Given the description of an element on the screen output the (x, y) to click on. 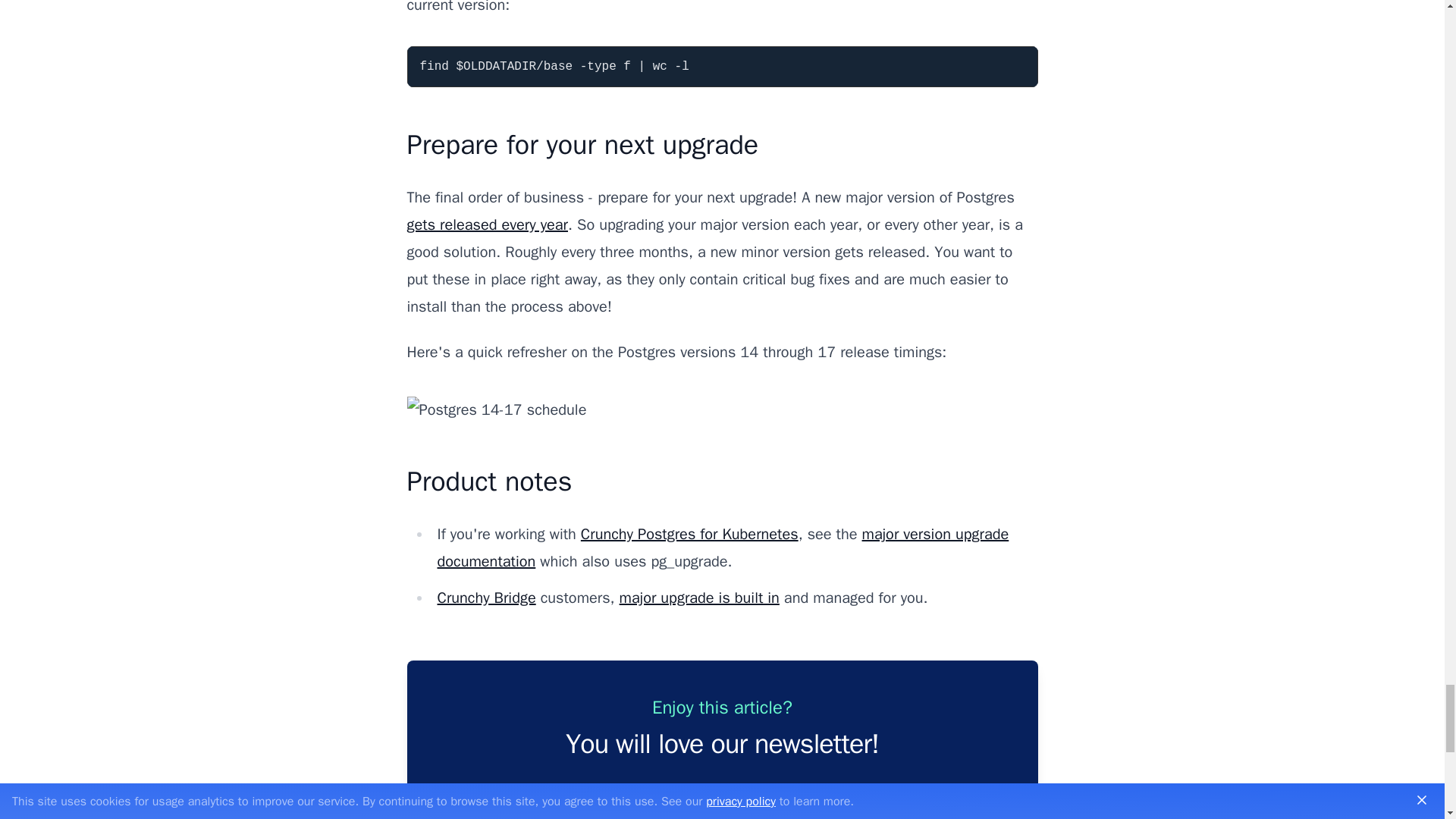
Prepare for your next upgrade (582, 144)
Product notes (489, 481)
gets released every year (486, 224)
